Given the description of an element on the screen output the (x, y) to click on. 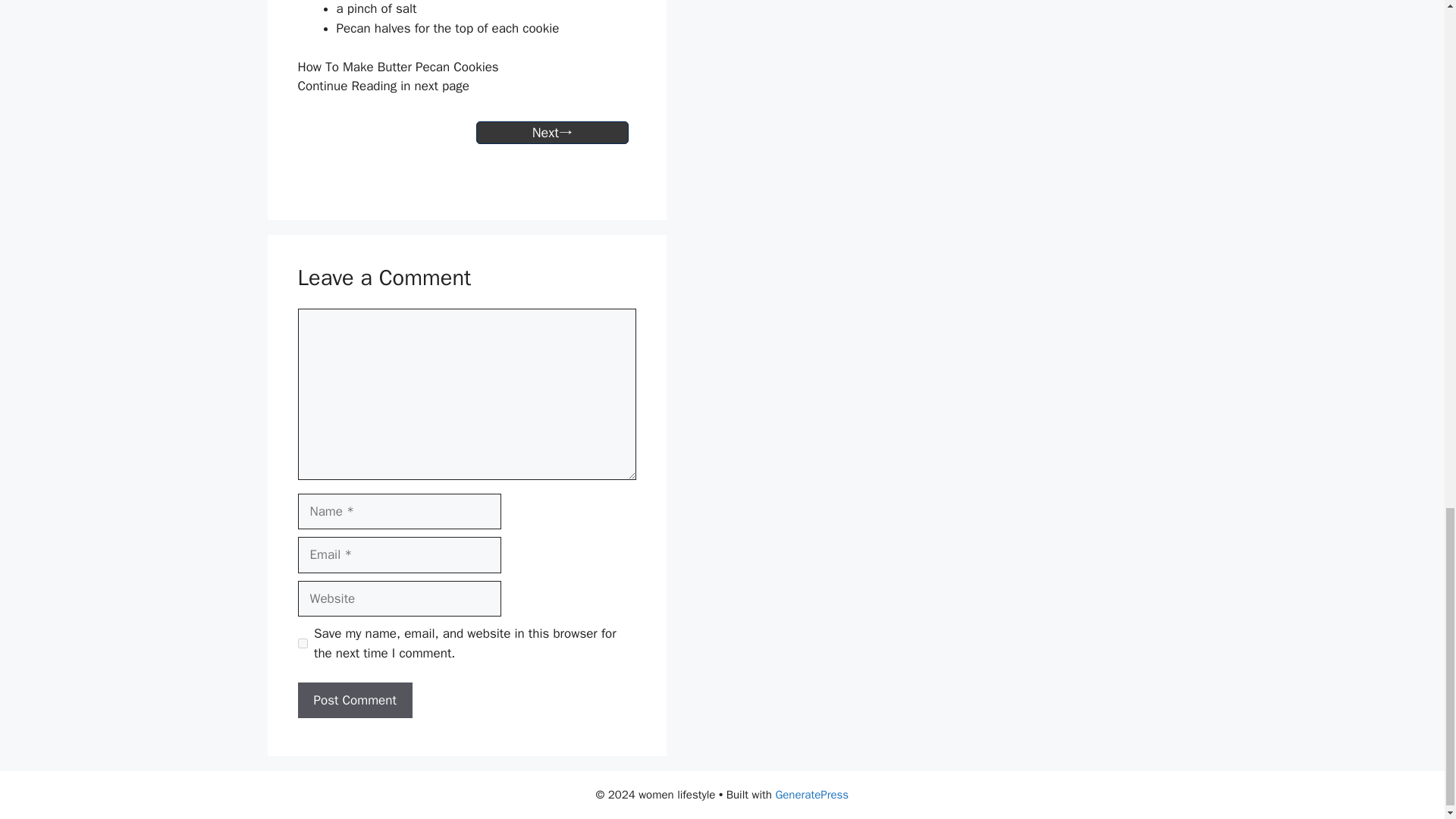
GeneratePress (811, 794)
yes (302, 643)
Post Comment (354, 700)
Post Comment (354, 700)
